Given the description of an element on the screen output the (x, y) to click on. 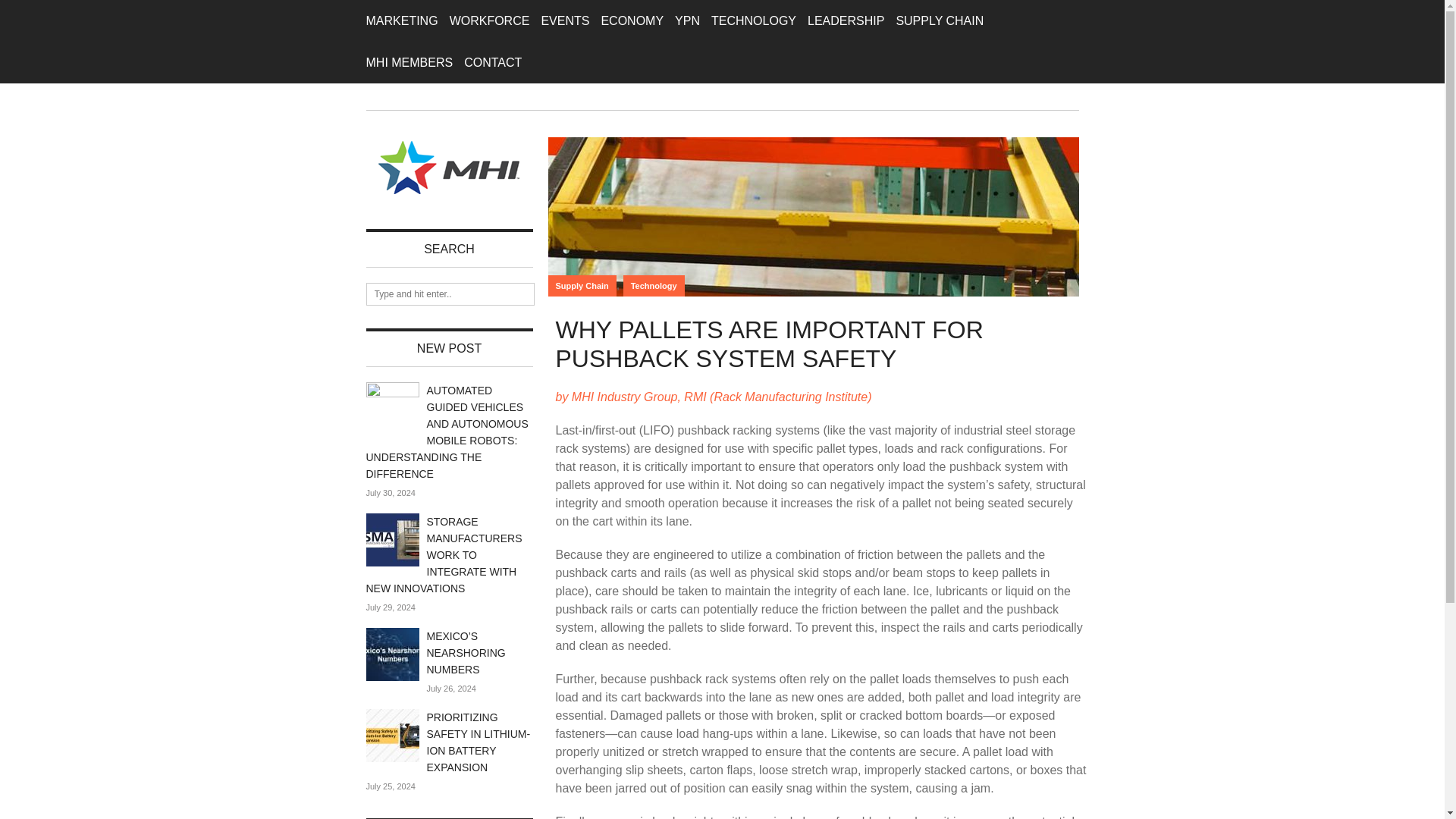
Supply Chain (581, 285)
MARKETING (401, 20)
MHI MEMBERS (408, 62)
PRIORITIZING SAFETY IN LITHIUM-ION BATTERY EXPANSION (477, 742)
Storage Manufacturers Work to Integrate with New Innovations (443, 554)
CONTACT (492, 62)
SUPPLY CHAIN (939, 20)
ECONOMY (631, 20)
TECHNOLOGY (753, 20)
WORKFORCE (489, 20)
STORAGE MANUFACTURERS WORK TO INTEGRATE WITH NEW INNOVATIONS (443, 554)
